Given the description of an element on the screen output the (x, y) to click on. 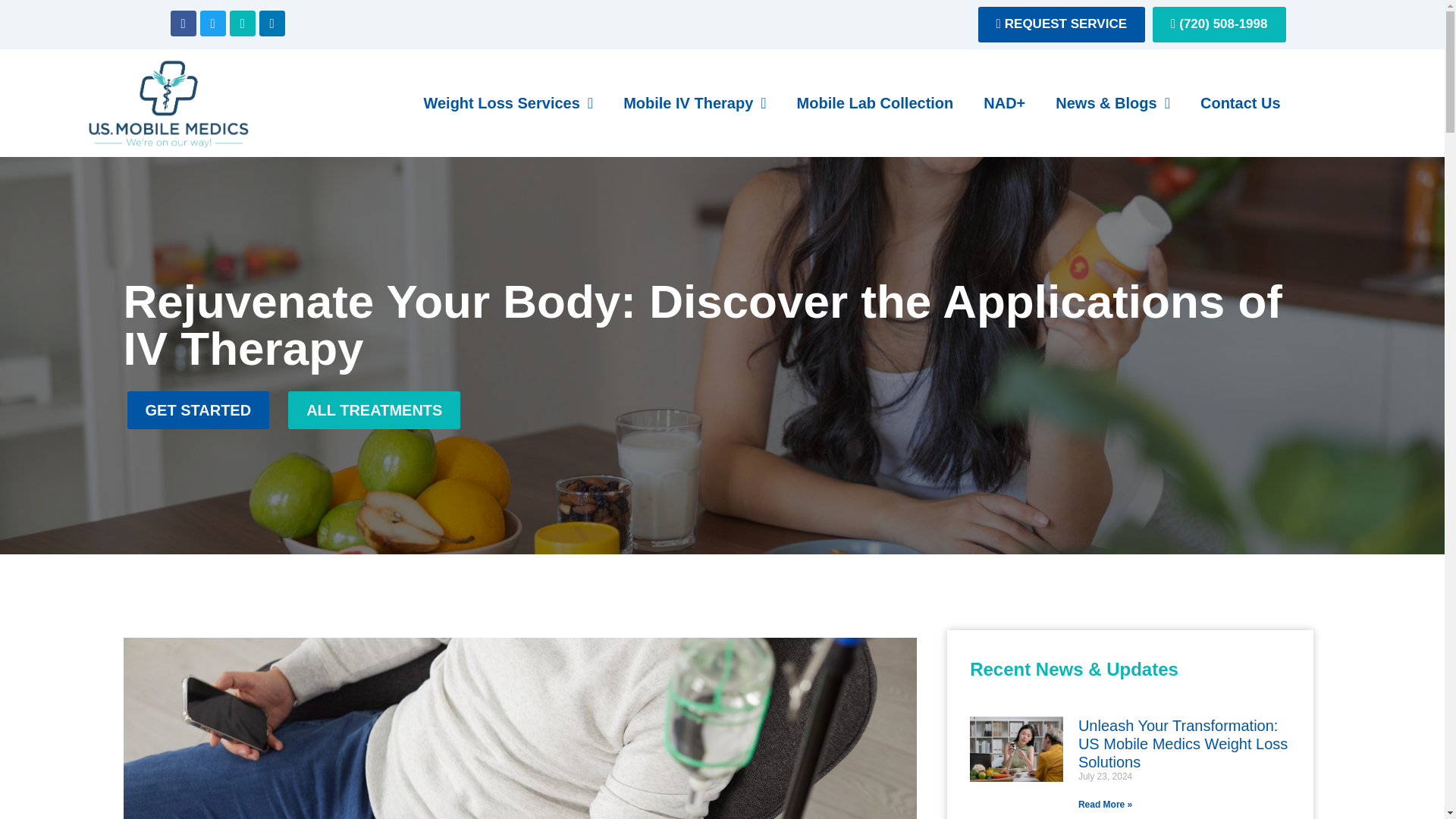
Contact Us (1240, 102)
REQUEST SERVICE (1061, 24)
Mobile Lab Collection (875, 102)
Twitter (212, 23)
Linkedin (272, 23)
Instagram (241, 23)
Facebook (182, 23)
Weight Loss Services (507, 102)
Mobile IV Therapy (694, 102)
